Given the description of an element on the screen output the (x, y) to click on. 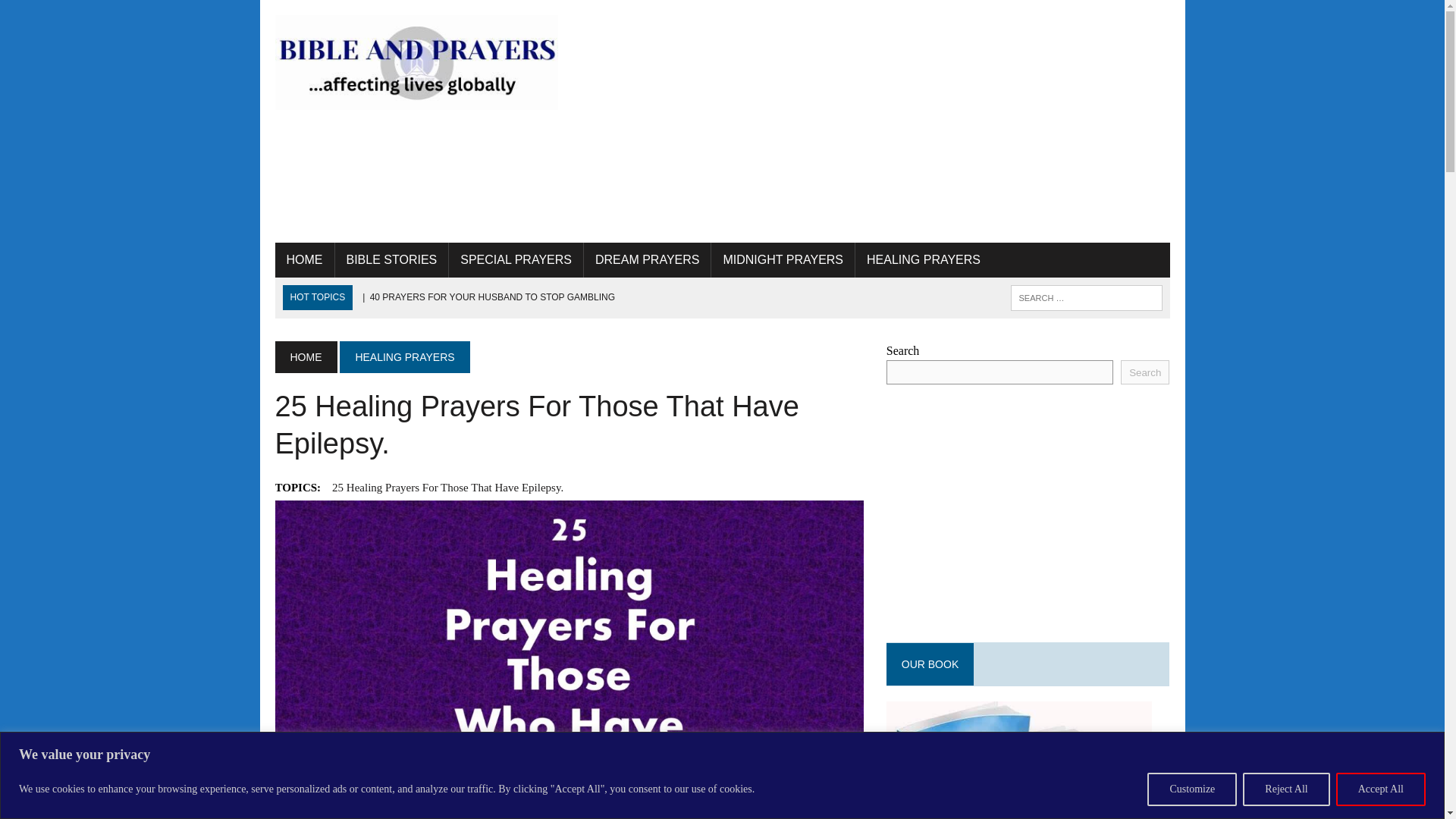
Search (75, 14)
Advertisement (875, 121)
HOME (304, 259)
MIDNIGHT PRAYERS (782, 259)
BIBLE STORIES (391, 259)
DREAM PRAYERS (647, 259)
25 Healing Prayers For Those That Have Epilepsy. (447, 487)
HOME (305, 357)
40 Prayers for Your Husband to Stop Gambling (486, 296)
Reject All (1286, 788)
Accept All (1380, 788)
HEALING PRAYERS (923, 259)
HEALING PRAYERS (403, 357)
Bible and Prayers (416, 62)
Customize (1191, 788)
